Given the description of an element on the screen output the (x, y) to click on. 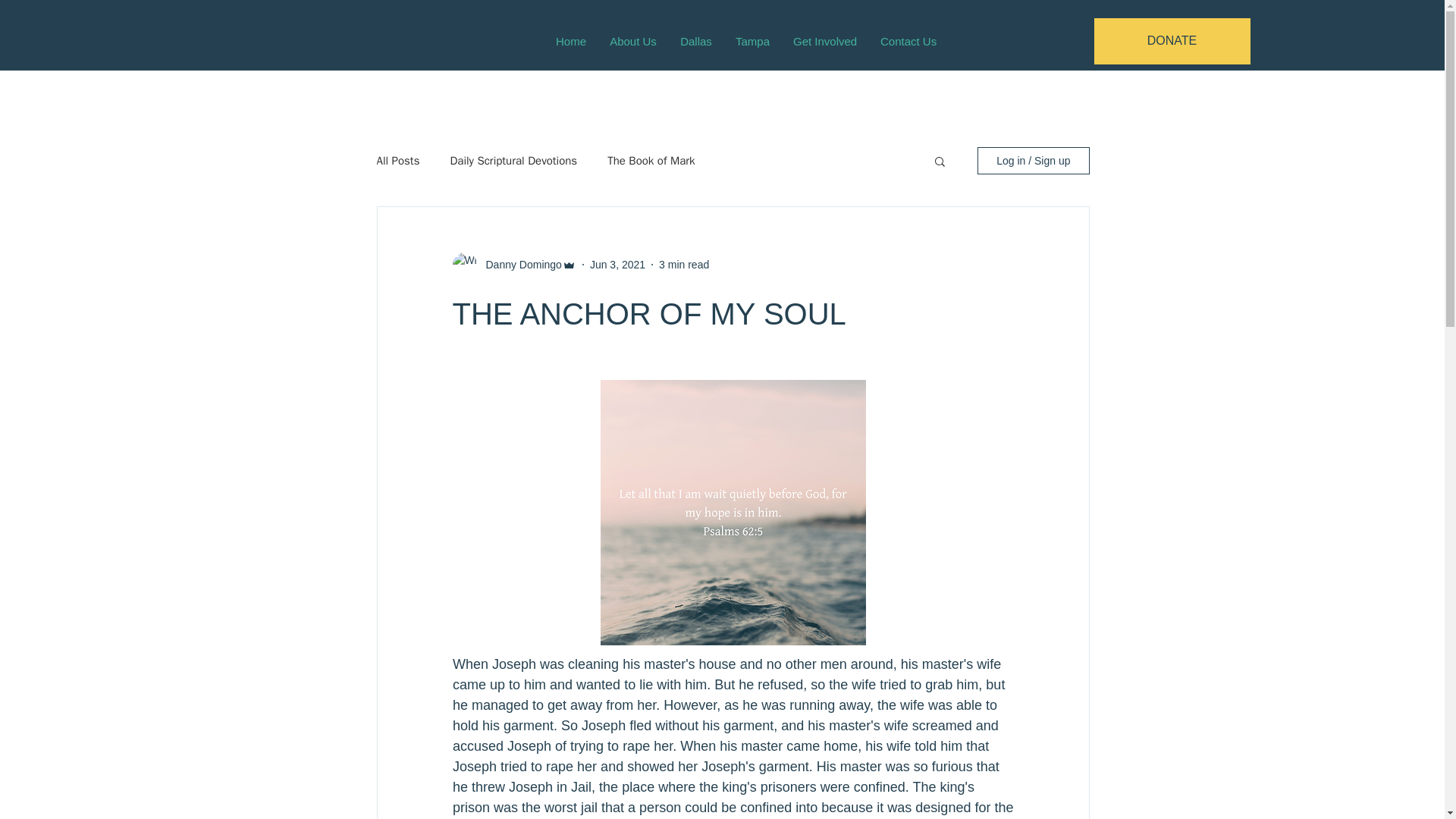
Jun 3, 2021 (617, 263)
Home (569, 41)
Tampa (751, 41)
Dallas (695, 41)
Get Involved (823, 41)
DONATE (1171, 41)
All Posts (397, 160)
Daily Scriptural Devotions (512, 160)
Danny Domingo (518, 263)
About Us (632, 41)
Contact Us (907, 41)
The Book of Mark (650, 160)
3 min read (684, 263)
